Given the description of an element on the screen output the (x, y) to click on. 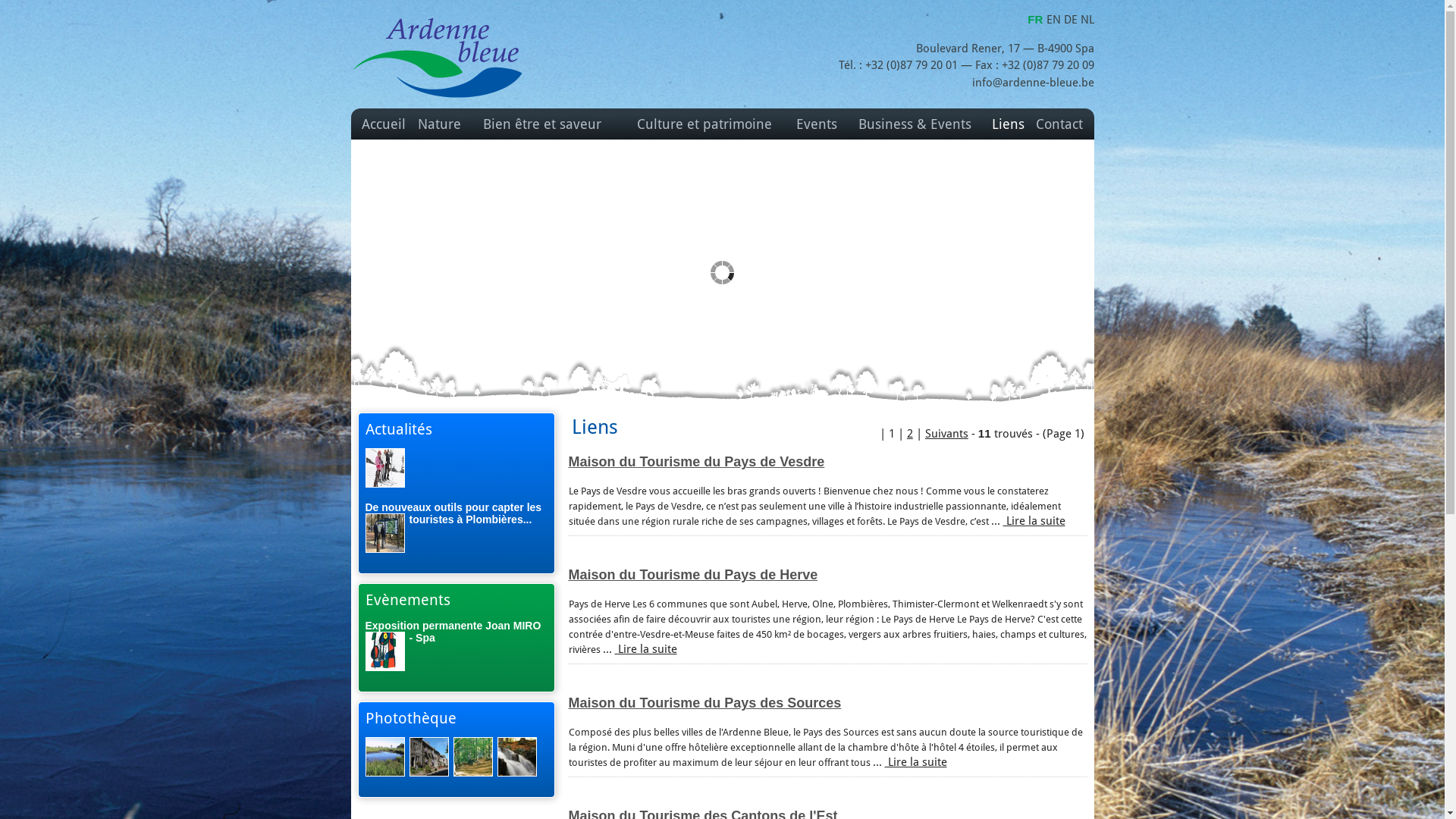
Liens Element type: text (1007, 124)
Accueil Element type: text (383, 124)
EN Element type: text (1054, 19)
Maison du Tourisme du Pays des Sources Element type: text (704, 702)
Exposition permanente Joan MIRO - Spa Element type: text (453, 631)
Business & Events Element type: text (914, 124)
Suivants Element type: text (946, 433)
NL Element type: text (1086, 19)
Maison du Tourisme du Pays de Herve Element type: text (693, 574)
DE Element type: text (1071, 19)
 Lire la suite Element type: text (915, 761)
Events Element type: text (816, 124)
 Lire la suite Element type: text (645, 648)
Maison du Tourisme du Pays de Vesdre Element type: text (696, 461)
FR Element type: text (1036, 18)
2 Element type: text (909, 433)
Nature Element type: text (439, 124)
 Lire la suite Element type: text (1033, 520)
Contact Element type: text (1058, 124)
Culture et patrimoine Element type: text (704, 124)
